Given the description of an element on the screen output the (x, y) to click on. 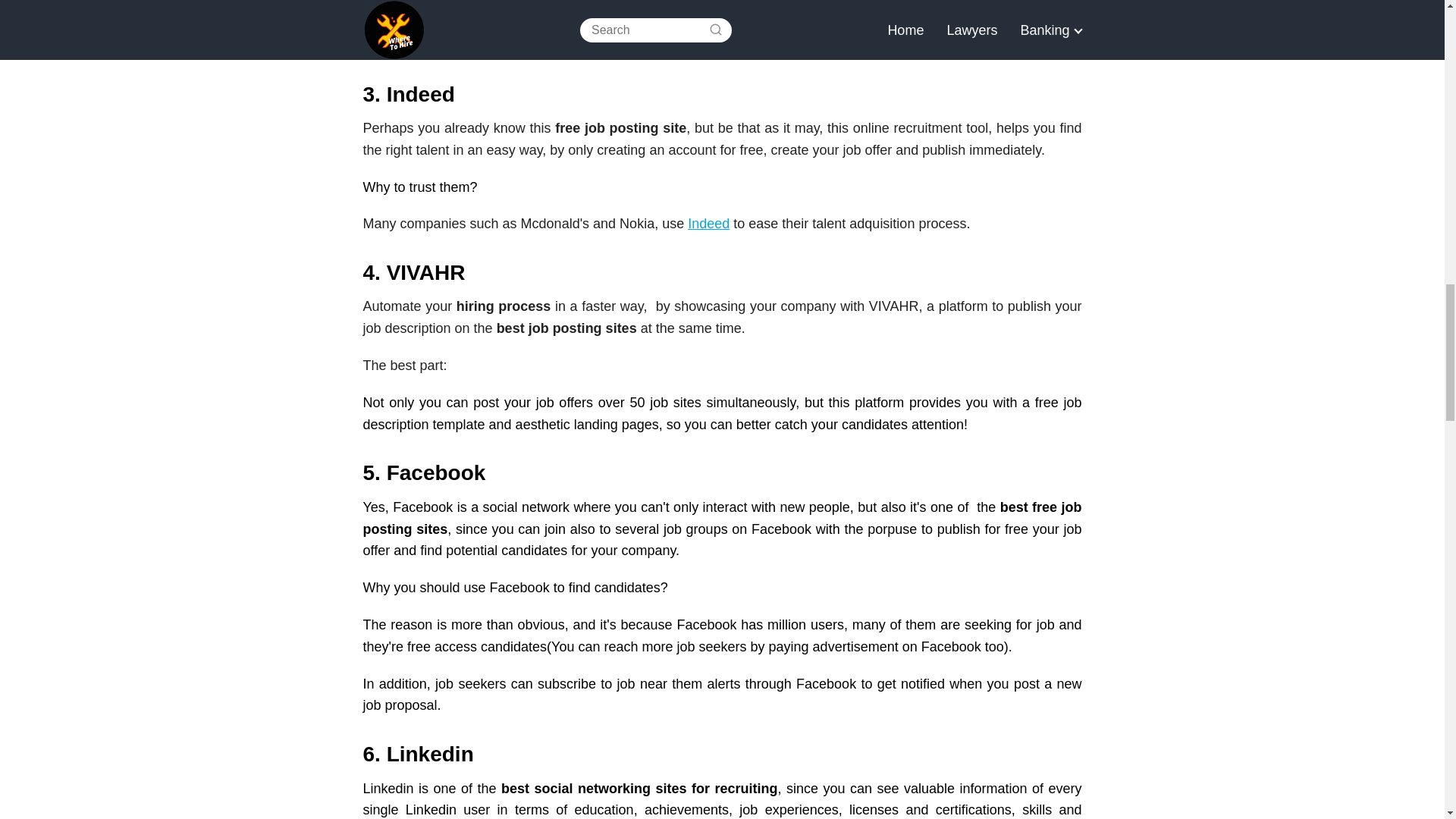
Indeed (708, 223)
